Given the description of an element on the screen output the (x, y) to click on. 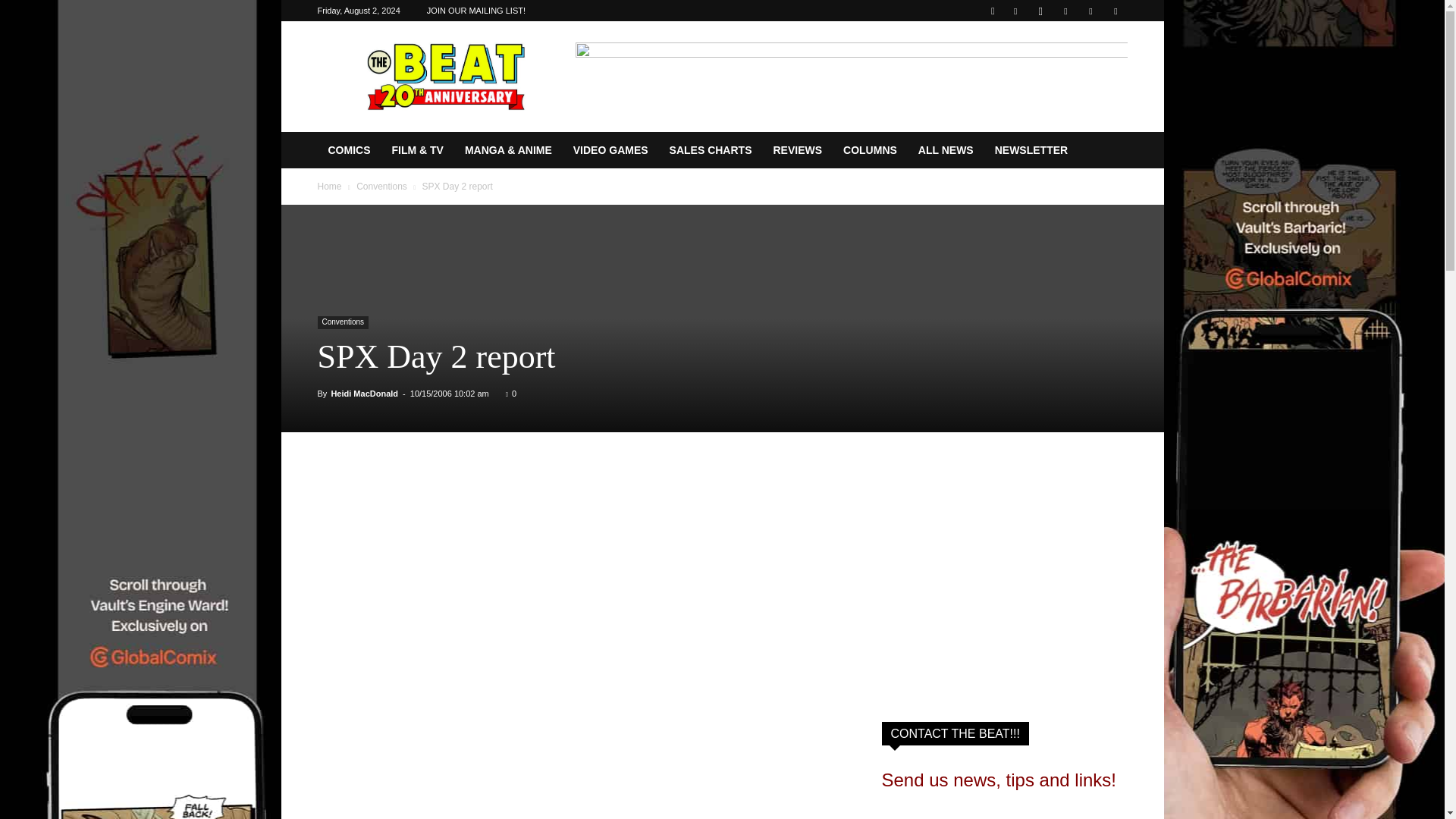
JOIN OUR MAILING LIST! (475, 10)
SALES CHARTS (710, 149)
Youtube (1114, 10)
COMICS (348, 149)
Instagram (1040, 10)
NEWSLETTER (1031, 149)
Search (1085, 64)
ALL NEWS (945, 149)
Twitter (1090, 10)
VIDEO GAMES (610, 149)
View all posts in Conventions (381, 185)
RSS (1065, 10)
Facebook (1015, 10)
COLUMNS (869, 149)
REVIEWS (796, 149)
